Given the description of an element on the screen output the (x, y) to click on. 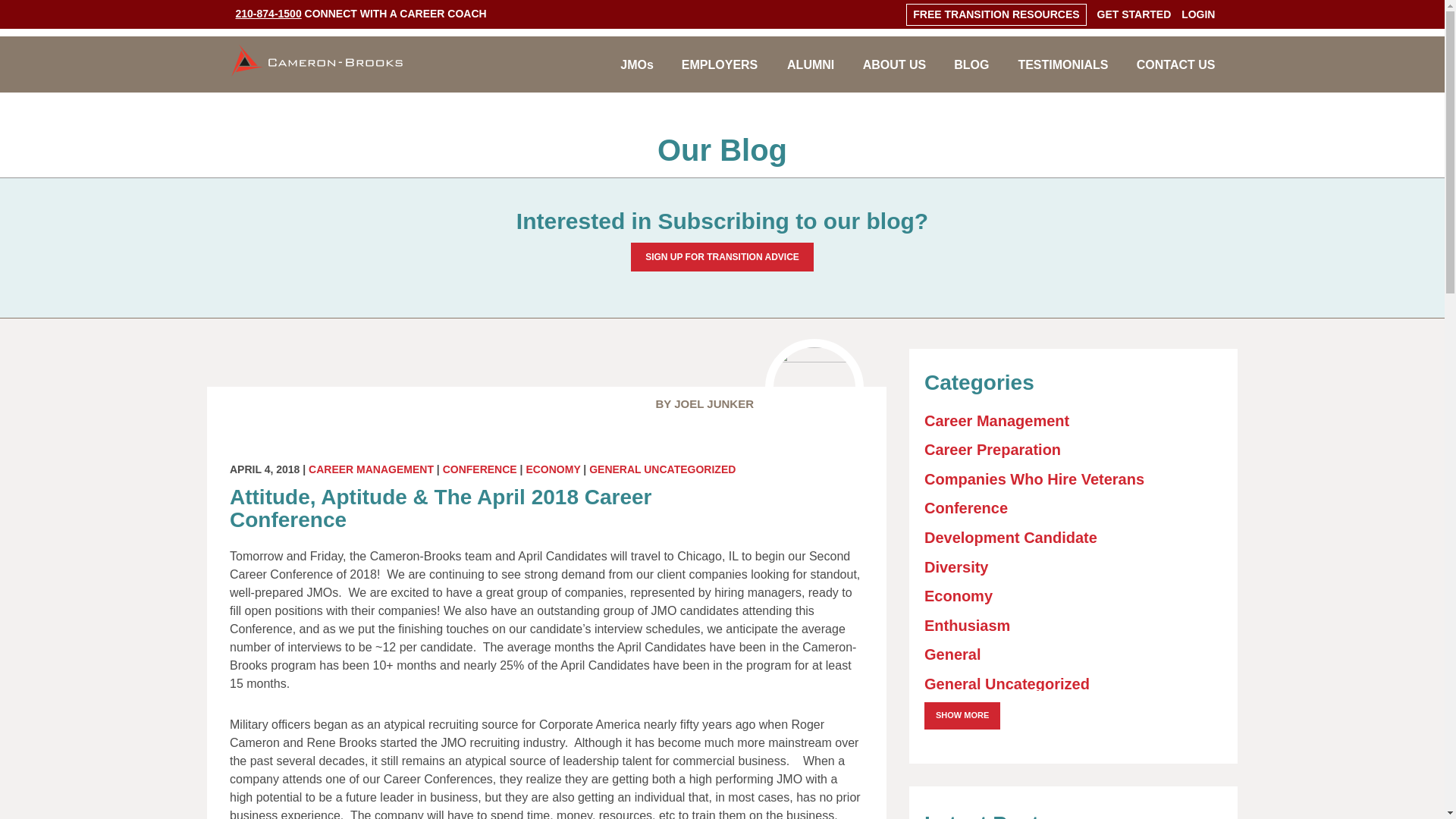
LOGIN (1197, 14)
FREE TRANSITION RESOURCES (995, 14)
ABOUT US (893, 74)
ALUMNI (810, 74)
JMOs (636, 74)
GET STARTED (1133, 14)
210-874-1500 (267, 13)
EMPLOYERS (719, 74)
